Given the description of an element on the screen output the (x, y) to click on. 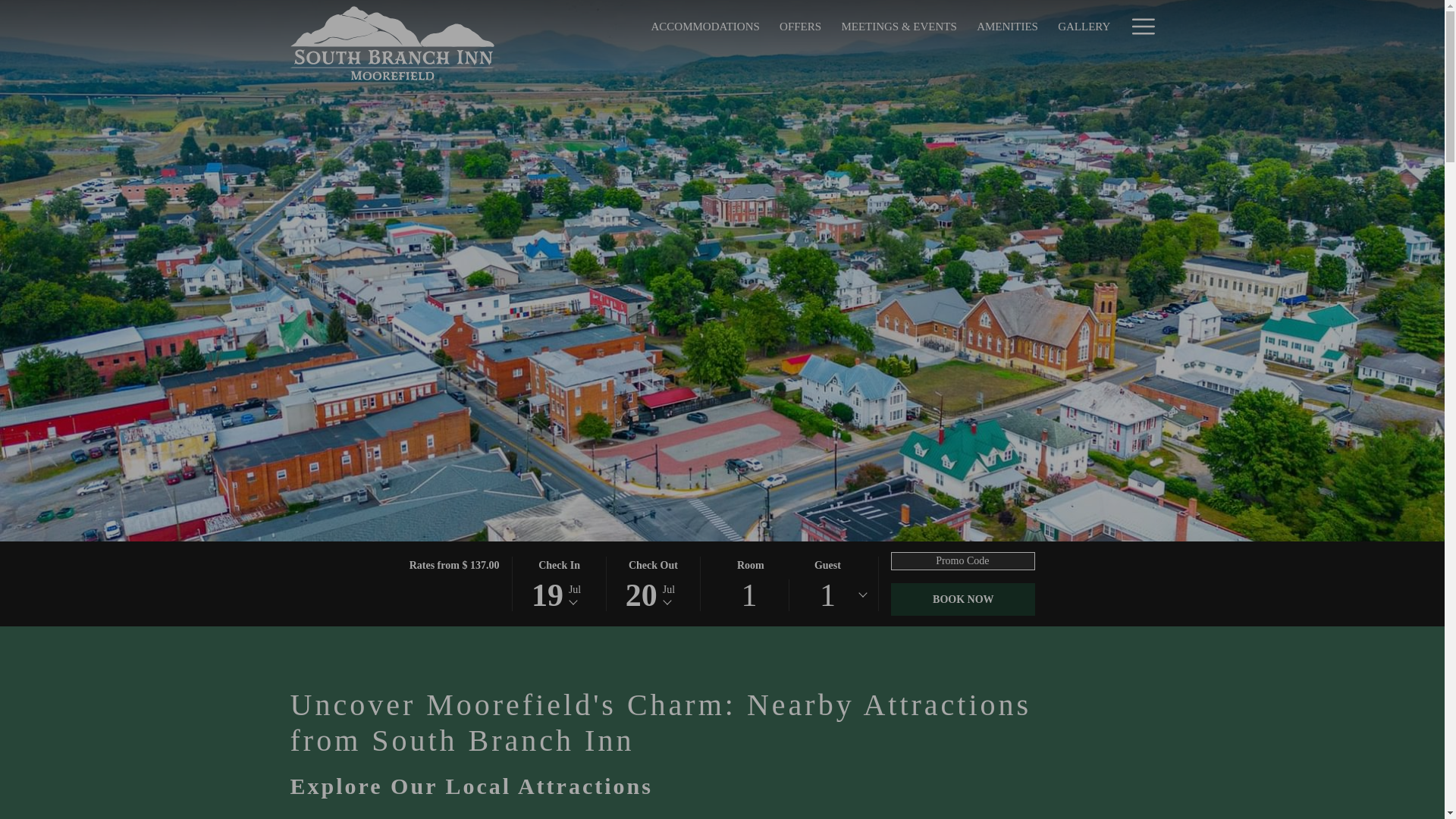
OFFERS (800, 26)
AMENITIES (1007, 26)
GALLERY (1083, 26)
ACCOMMODATIONS (705, 26)
Menu (1142, 26)
Back to the homepage (963, 599)
This button opens the room selector. (392, 43)
